Given the description of an element on the screen output the (x, y) to click on. 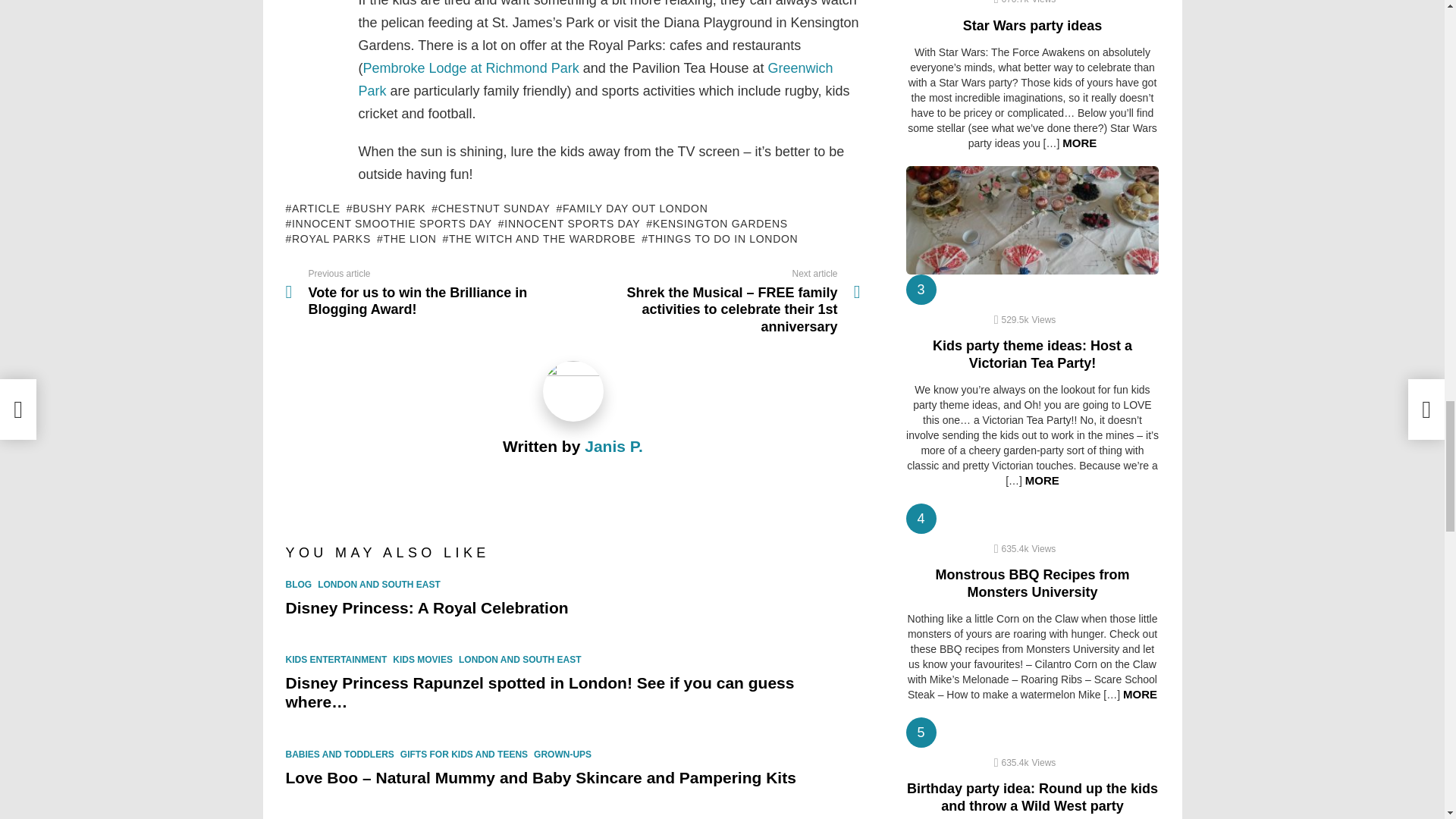
ARTICLE (312, 207)
Pembroke Lodge at Richmond Park (470, 68)
CHESTNUT SUNDAY (490, 207)
Pembroke Lodge (470, 68)
BUSHY PARK (385, 207)
INNOCENT SMOOTHIE SPORTS DAY (388, 222)
Greenwich Park (595, 79)
Greenwich Park (595, 79)
FAMILY DAY OUT LONDON (631, 207)
